Given the description of an element on the screen output the (x, y) to click on. 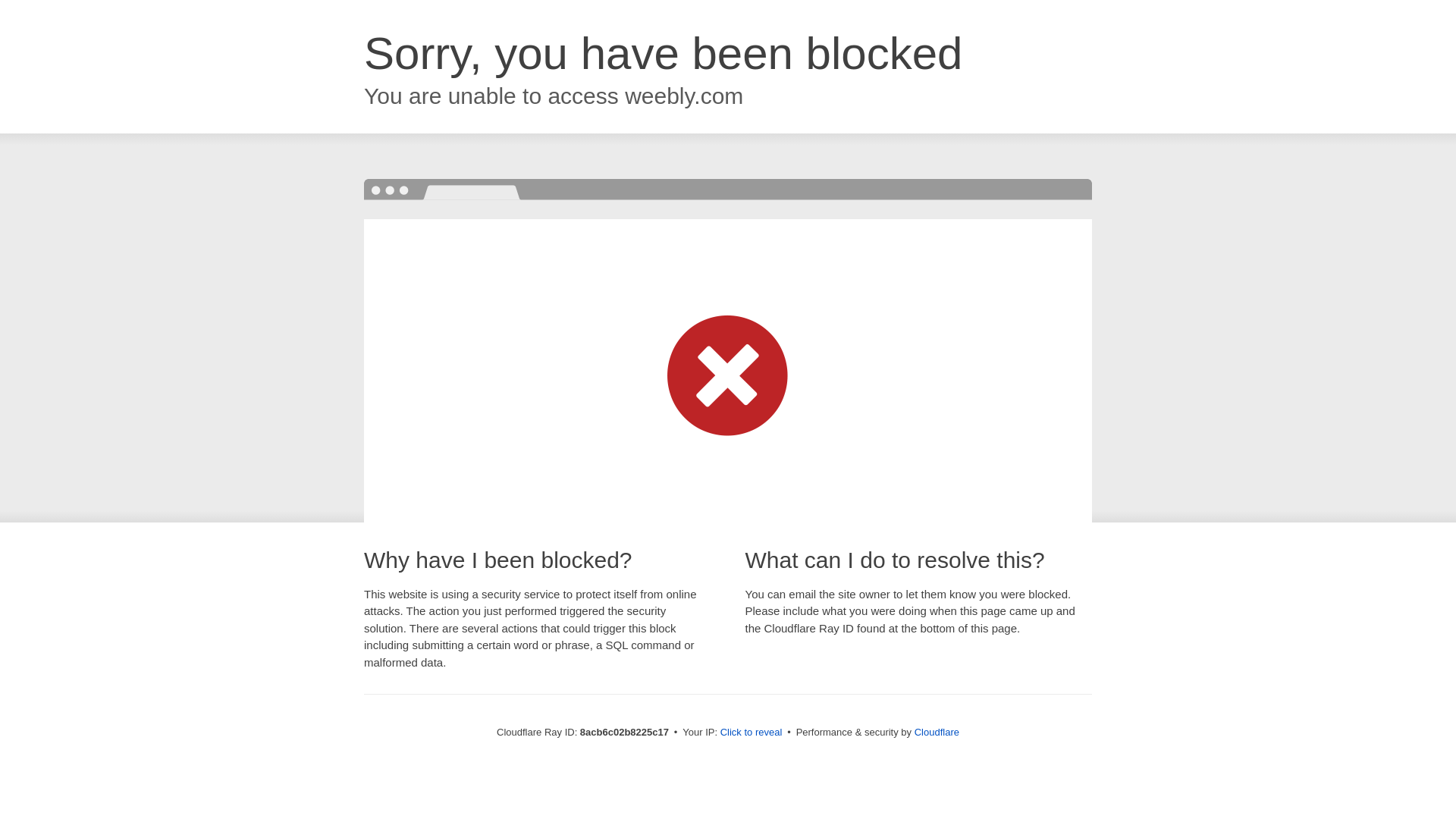
Click to reveal (751, 732)
Cloudflare (936, 731)
